Given the description of an element on the screen output the (x, y) to click on. 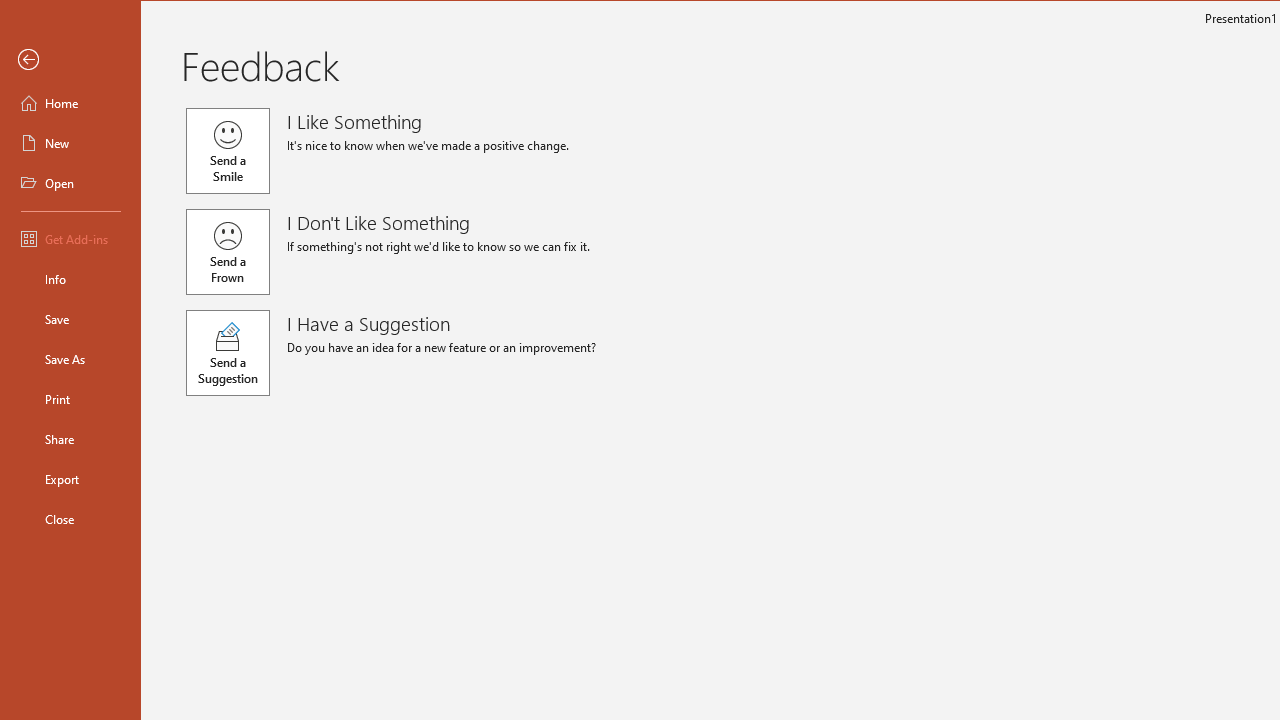
Info (70, 278)
Get Add-ins (70, 238)
